Given the description of an element on the screen output the (x, y) to click on. 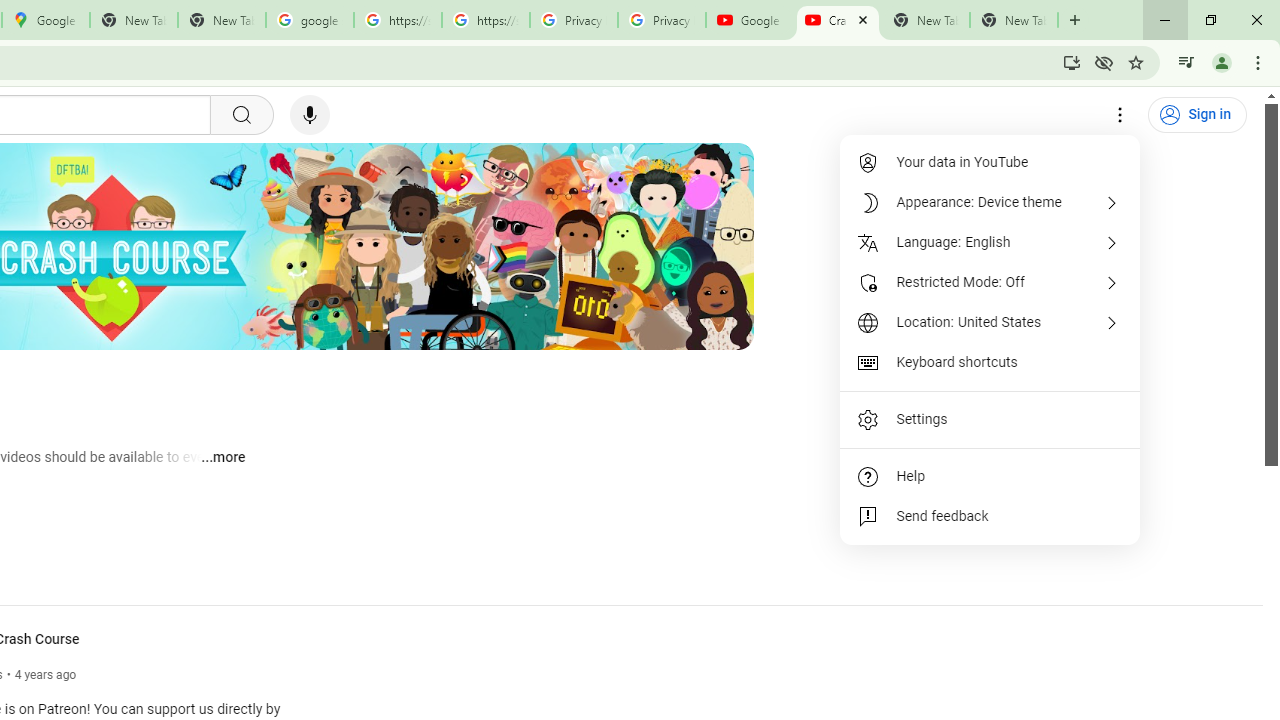
https://scholar.google.com/ (485, 20)
CrashCourse - YouTube (837, 20)
Your data in YouTube (989, 162)
Restricted Mode: Off (989, 282)
https://scholar.google.com/ (397, 20)
